Given the description of an element on the screen output the (x, y) to click on. 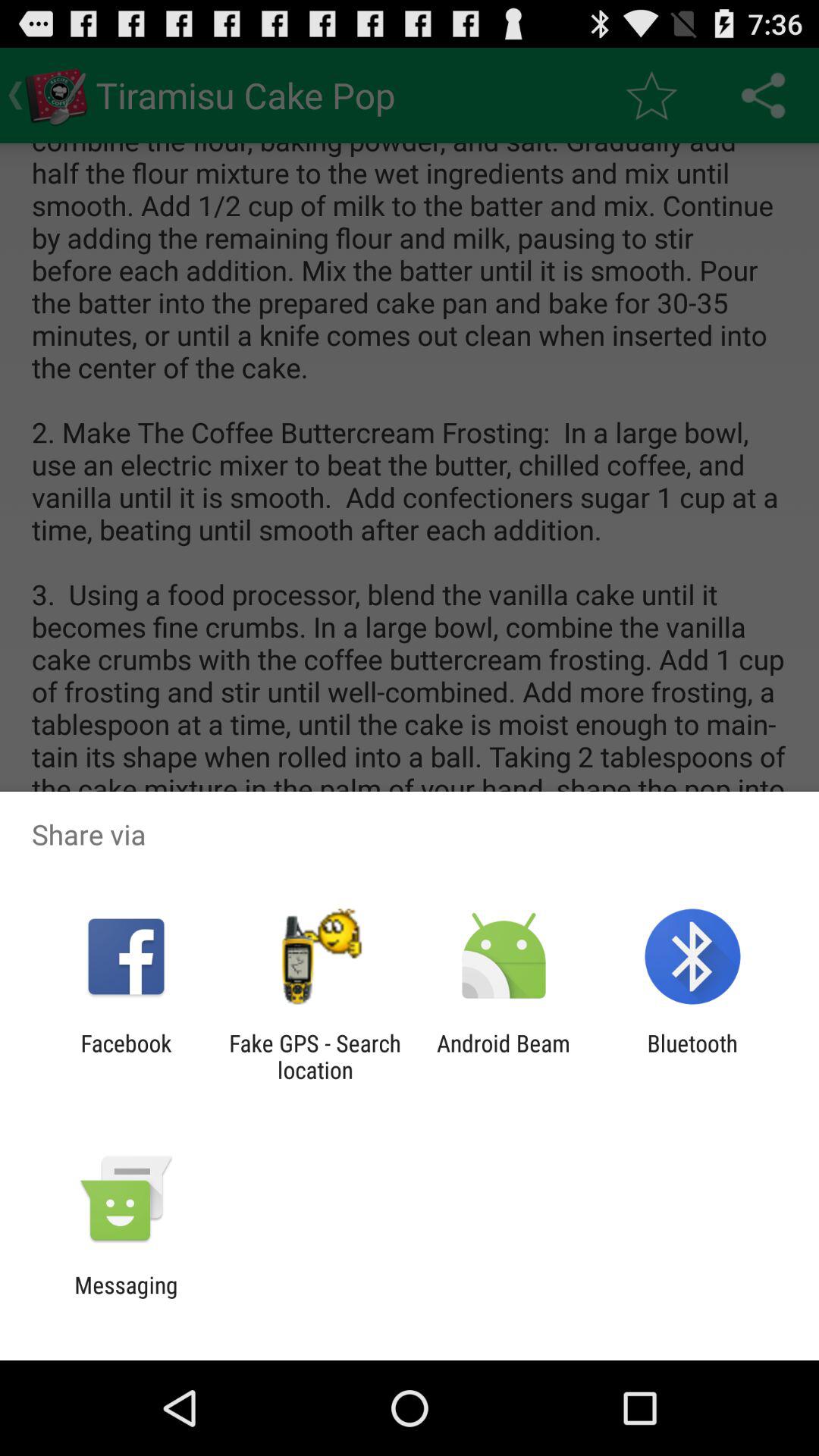
flip until the fake gps search app (314, 1056)
